Given the description of an element on the screen output the (x, y) to click on. 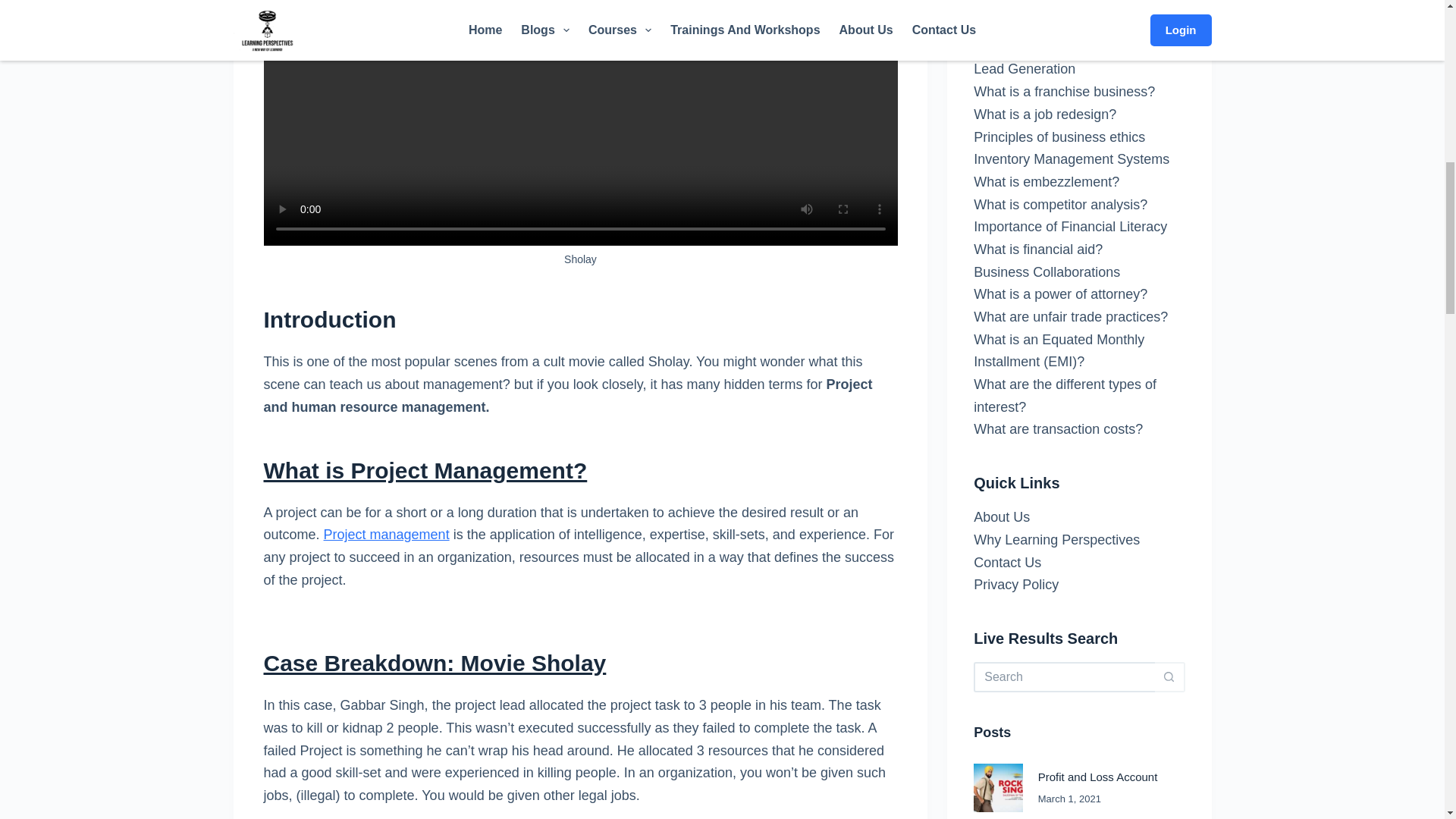
Search for... (1064, 496)
